Given the description of an element on the screen output the (x, y) to click on. 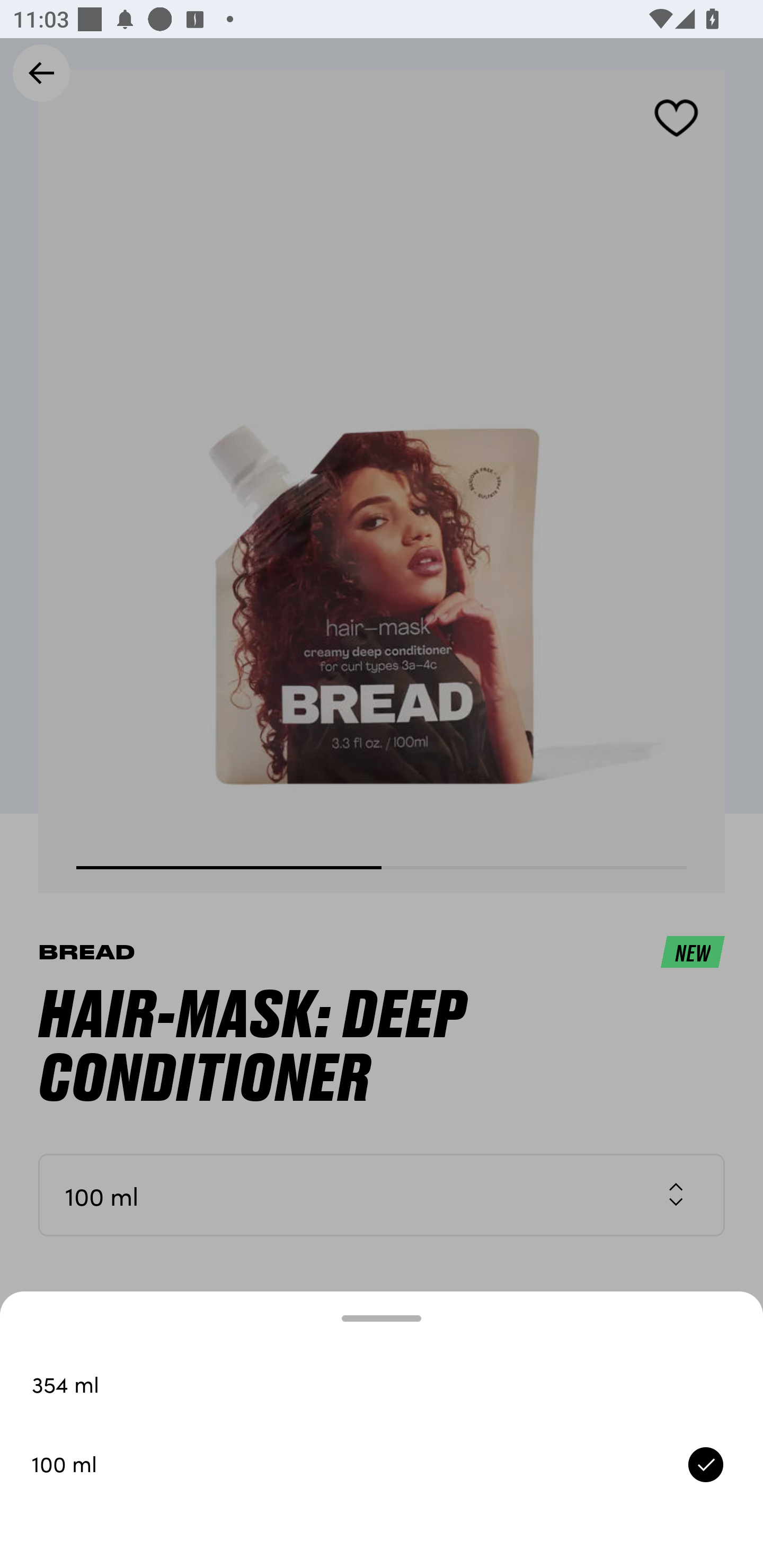
354 ml (381, 1385)
100 ml  (381, 1464)
